Given the description of an element on the screen output the (x, y) to click on. 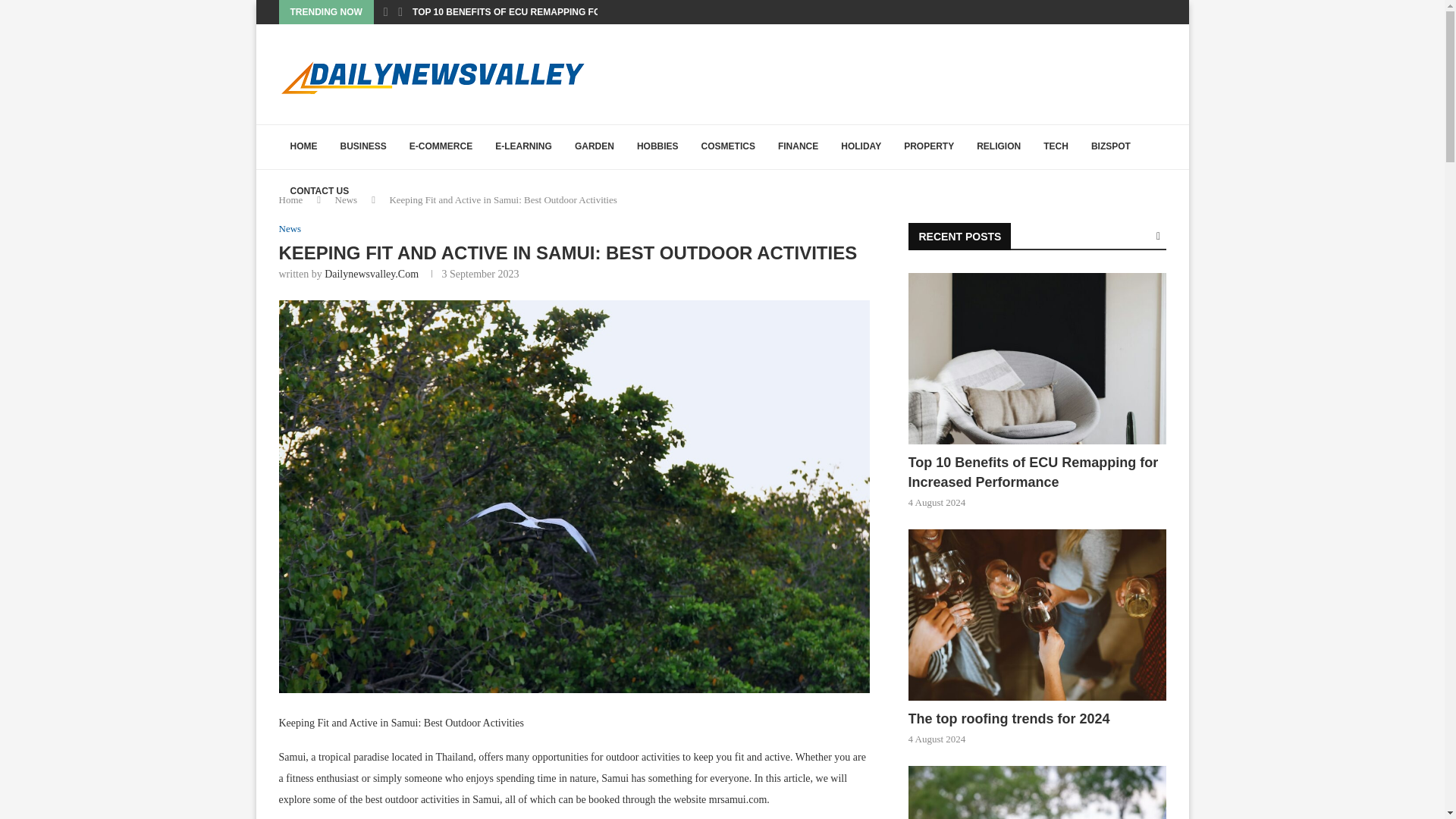
Home (290, 199)
FINANCE (798, 146)
RELIGION (998, 146)
Dailynewsvalley.Com (371, 274)
BIZSPOT (1110, 146)
BUSINESS (363, 146)
E-LEARNING (523, 146)
COSMETICS (728, 146)
News (290, 228)
HOME (304, 146)
Top 10 Benefits of ECU Remapping for Increased Performance (1037, 358)
TOP 10 BENEFITS OF ECU REMAPPING FOR INCREASED... (541, 12)
HOLIDAY (860, 146)
News (346, 199)
